Given the description of an element on the screen output the (x, y) to click on. 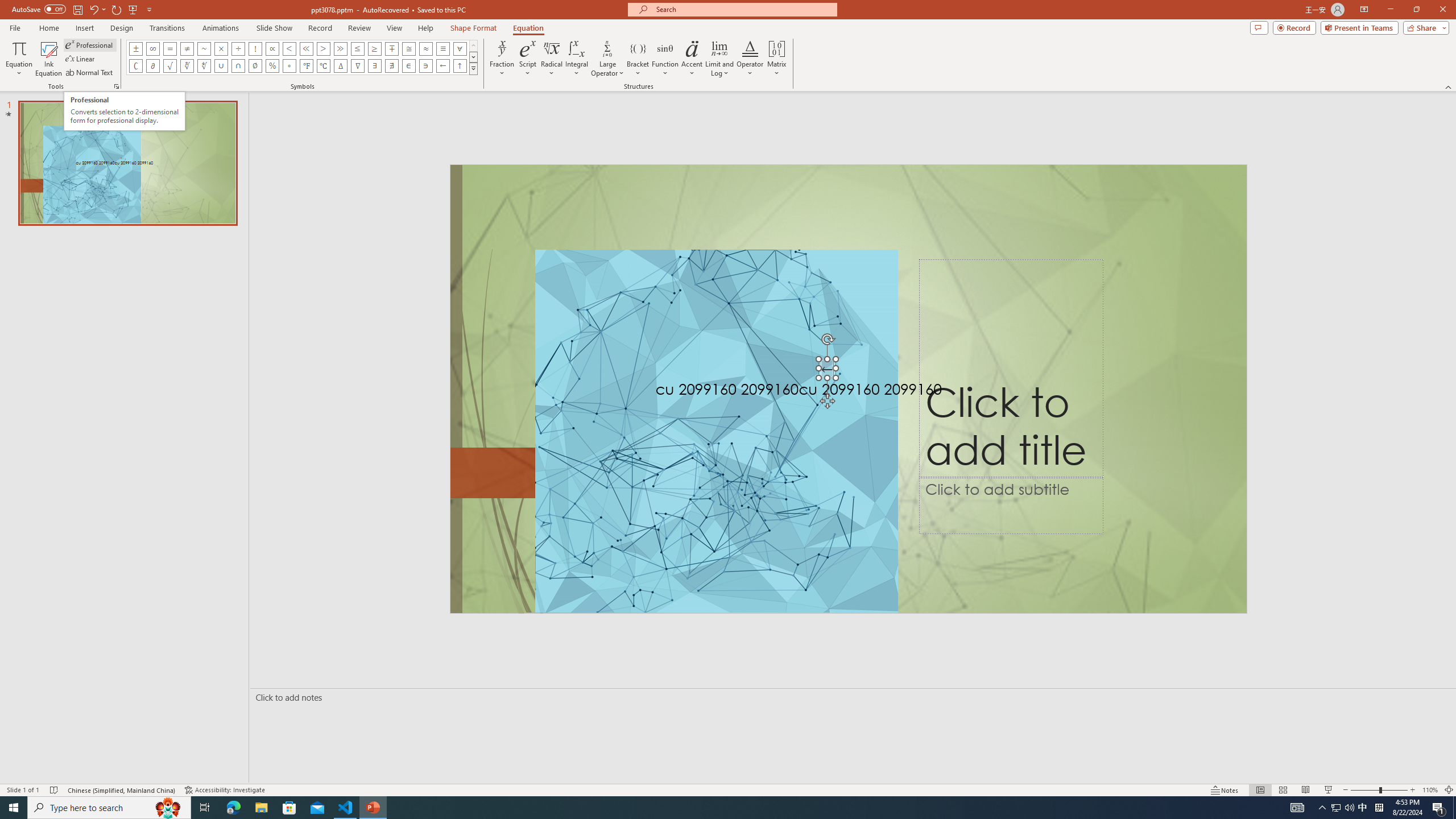
Equation Symbol Division Sign (238, 48)
Ink Equation (48, 58)
Function (664, 58)
Equation Symbol Cube Root (187, 65)
Equation Symbol Degrees Celsius (322, 65)
Equation Symbol Multiplication Sign (221, 48)
Equation Symbol Increment (340, 65)
Equation Symbol Approximately (203, 48)
Equation Symbol There Exists (374, 65)
